Given the description of an element on the screen output the (x, y) to click on. 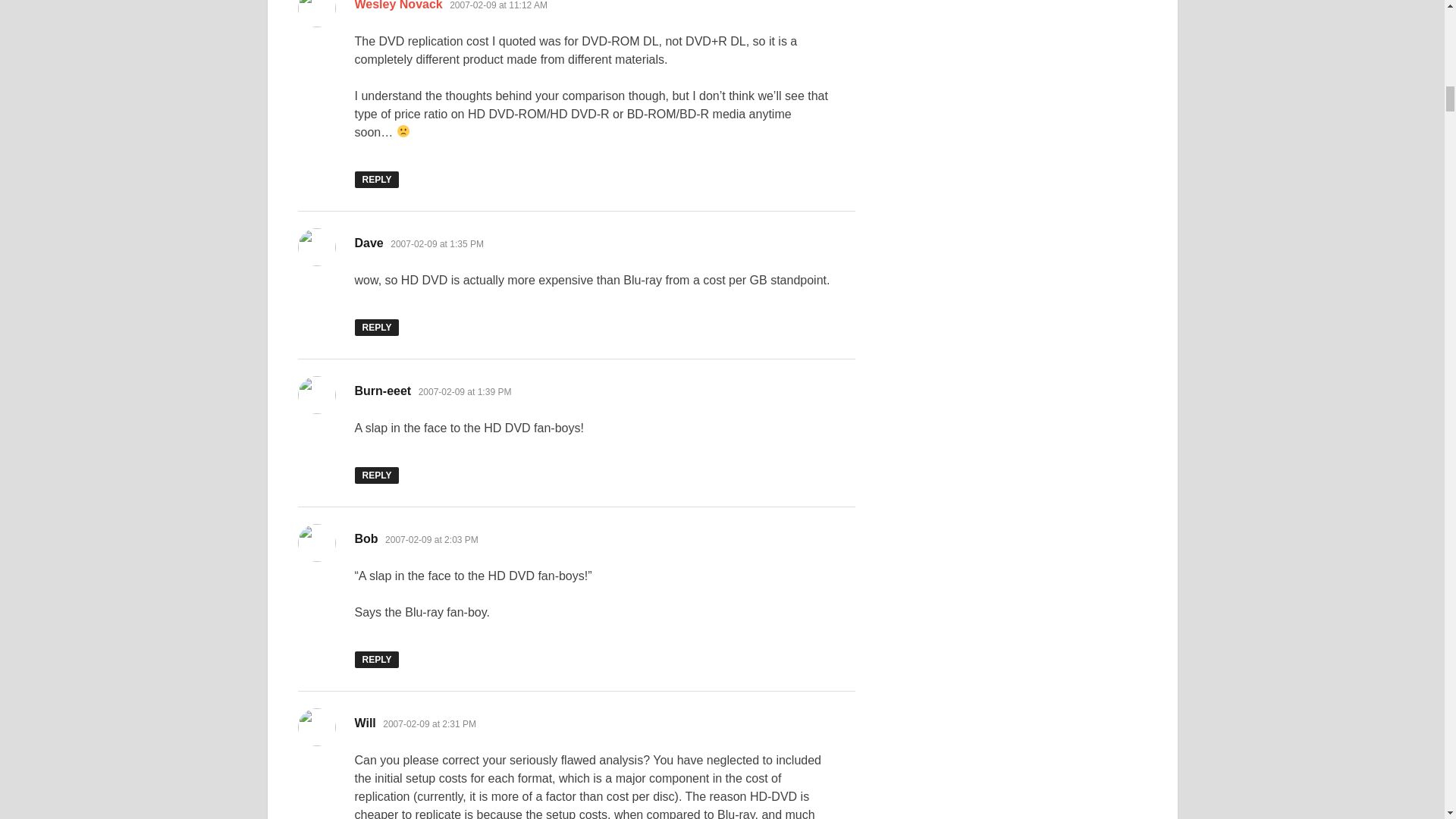
2007-02-09 at 2:31 PM (429, 724)
REPLY (376, 659)
REPLY (376, 327)
2007-02-09 at 1:35 PM (436, 244)
2007-02-09 at 2:03 PM (432, 539)
Wesley Novack (398, 5)
2007-02-09 at 11:12 AM (498, 5)
REPLY (376, 475)
REPLY (376, 179)
2007-02-09 at 1:39 PM (465, 391)
